Given the description of an element on the screen output the (x, y) to click on. 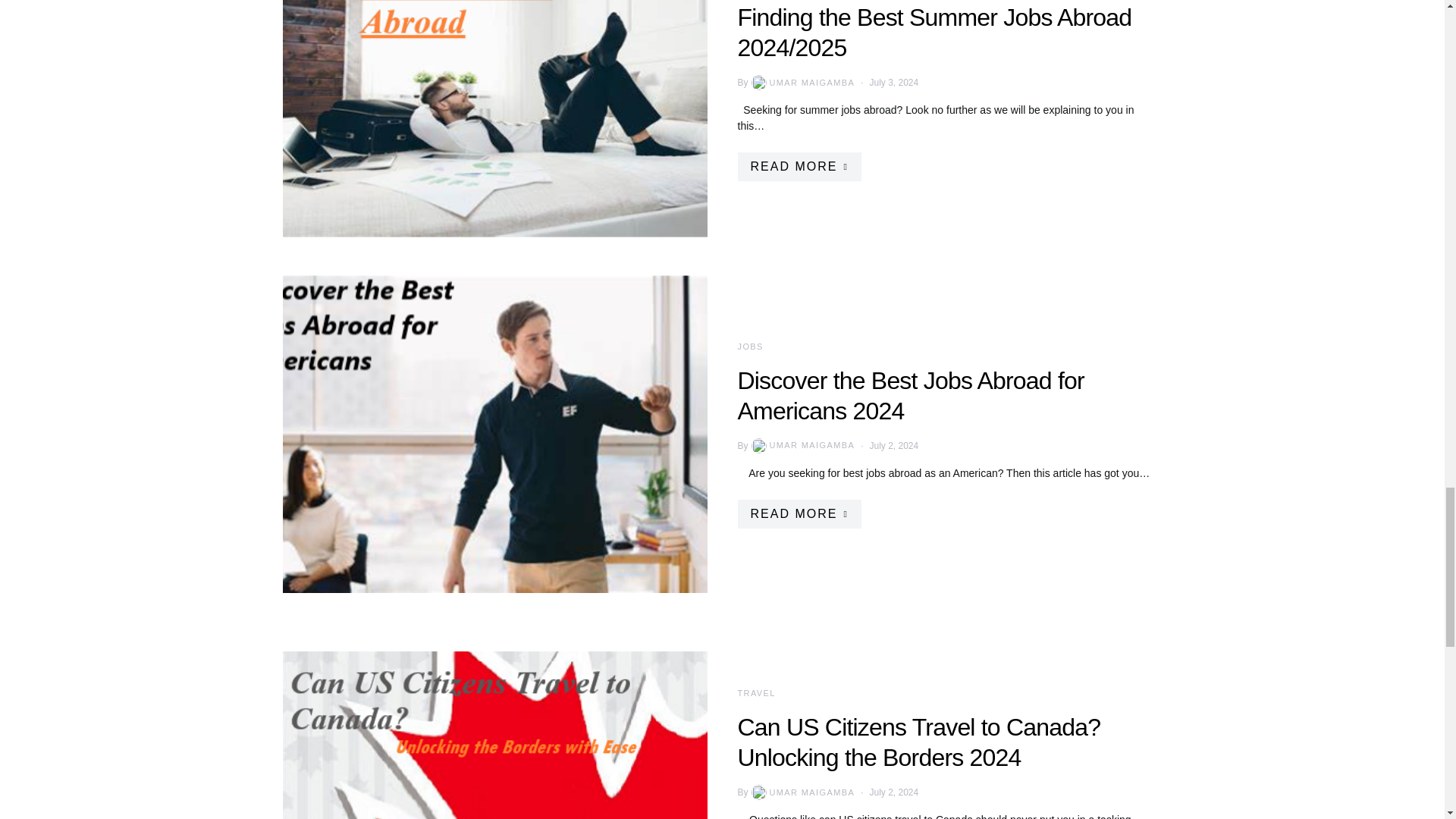
View all posts by Umar Maigamba (802, 792)
View all posts by Umar Maigamba (802, 445)
View all posts by Umar Maigamba (802, 82)
